Given the description of an element on the screen output the (x, y) to click on. 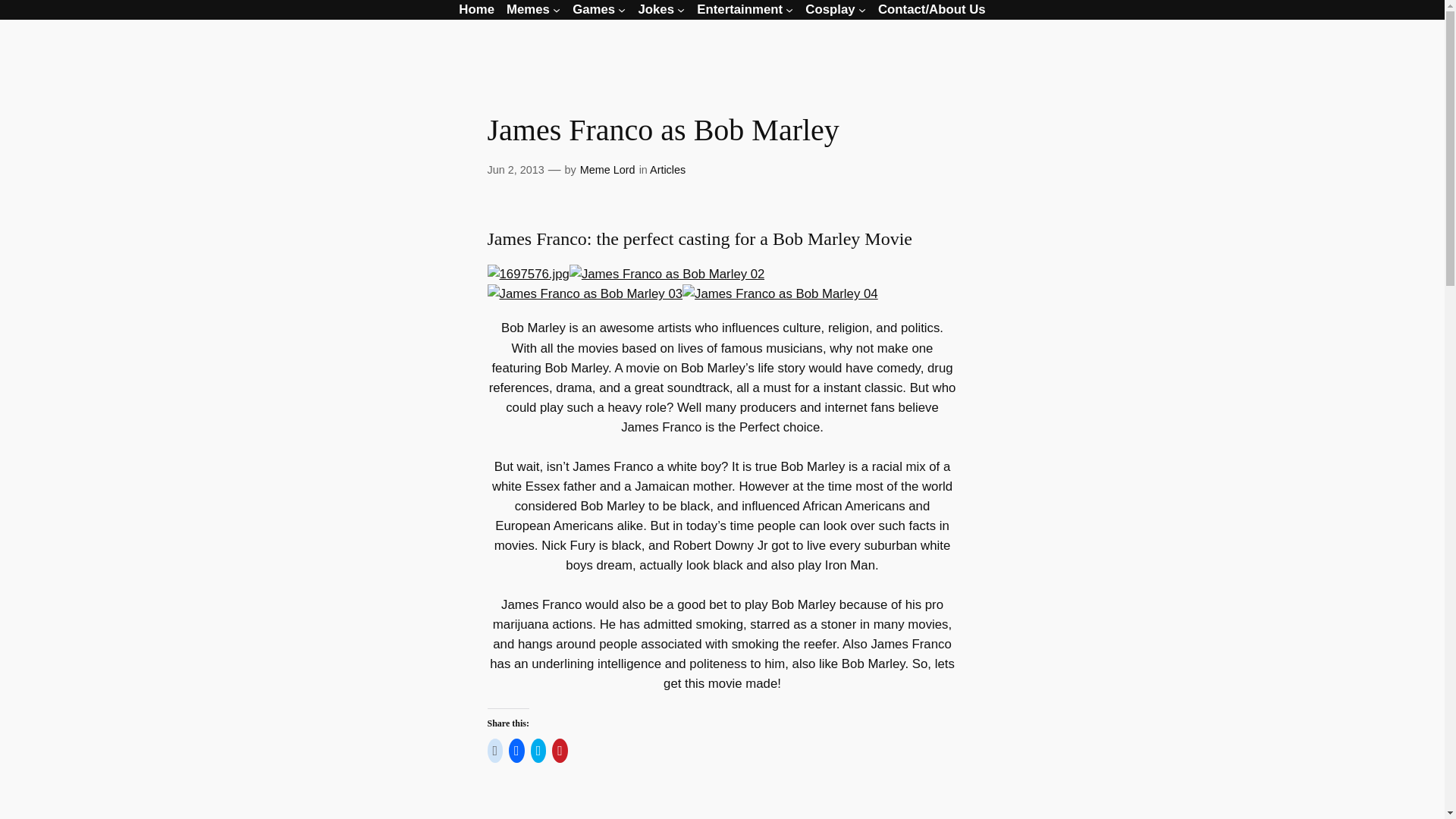
Memes (528, 9)
Home (476, 9)
Cosplay (829, 9)
Jokes (655, 9)
Games (593, 9)
Entertainment (740, 9)
